Given the description of an element on the screen output the (x, y) to click on. 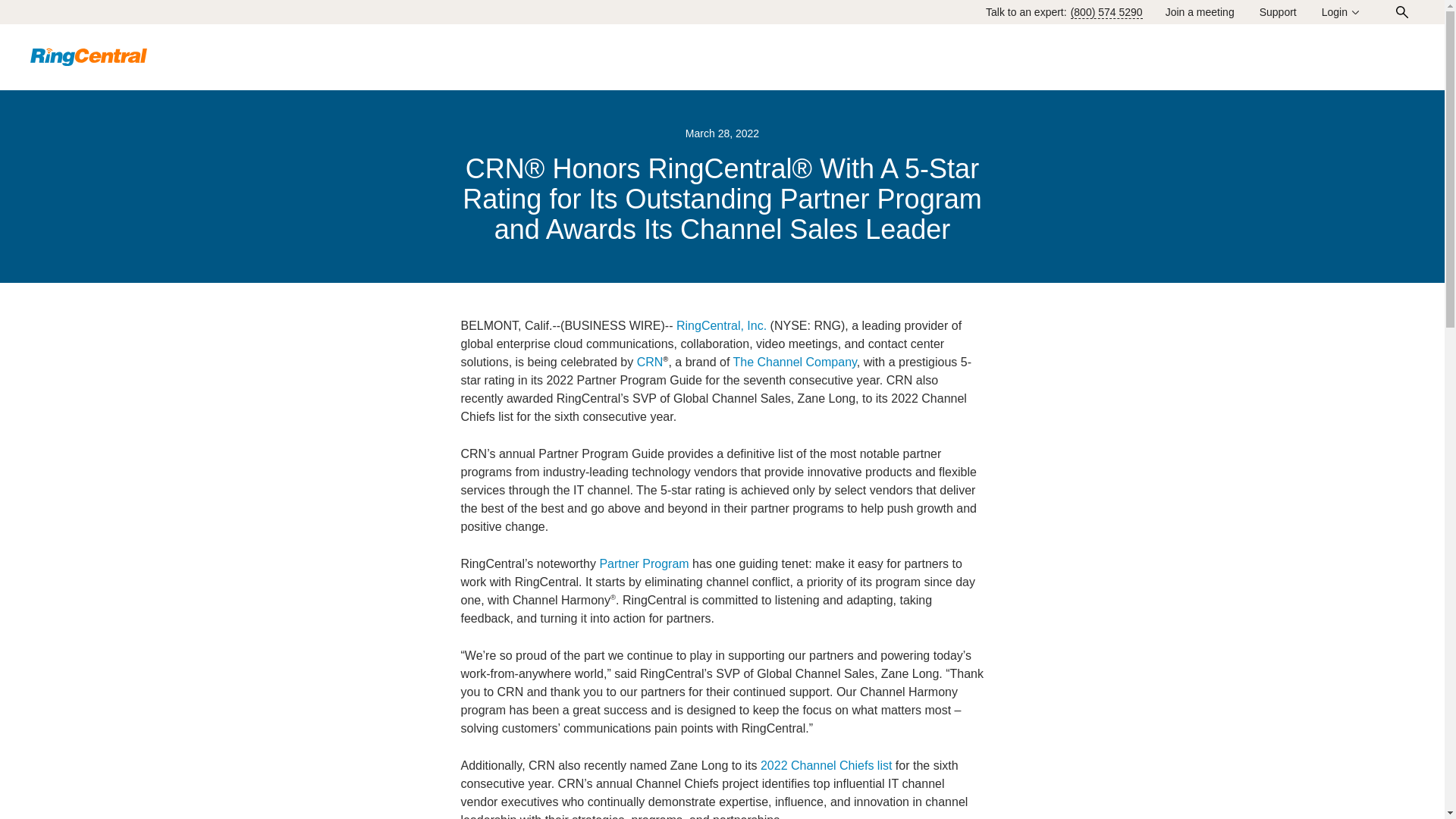
RingCentral, Inc. (722, 325)
The Channel Company (794, 361)
Login (1340, 12)
Login (1340, 12)
CRN (650, 361)
Support (1278, 11)
2022 Channel Chiefs list (825, 765)
Partner Program (643, 563)
Support (1278, 11)
Join a meeting (1200, 11)
